Given the description of an element on the screen output the (x, y) to click on. 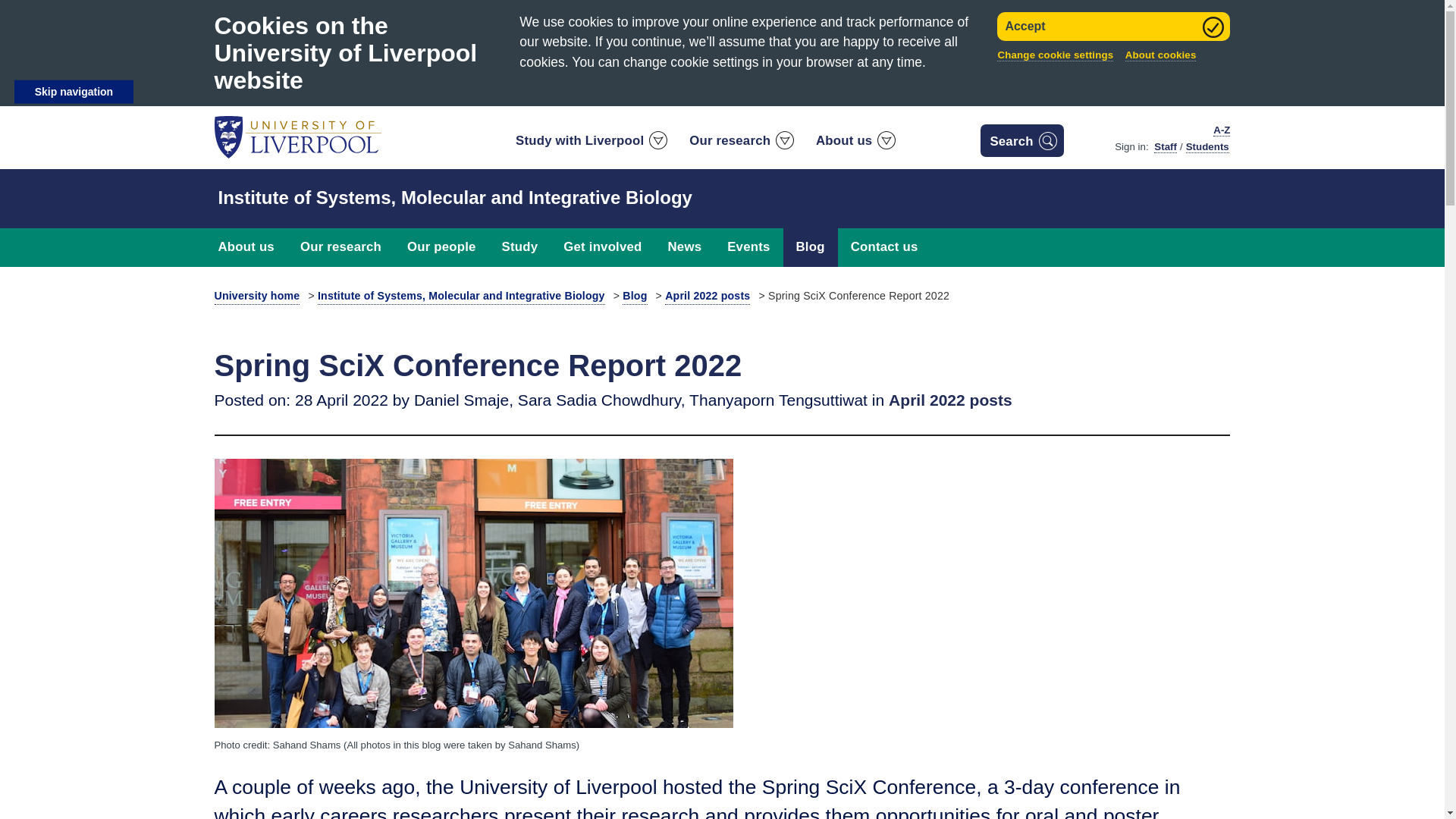
University of Liverpool Home (297, 136)
Accept (1113, 26)
Skip Navigation (73, 92)
